Given the description of an element on the screen output the (x, y) to click on. 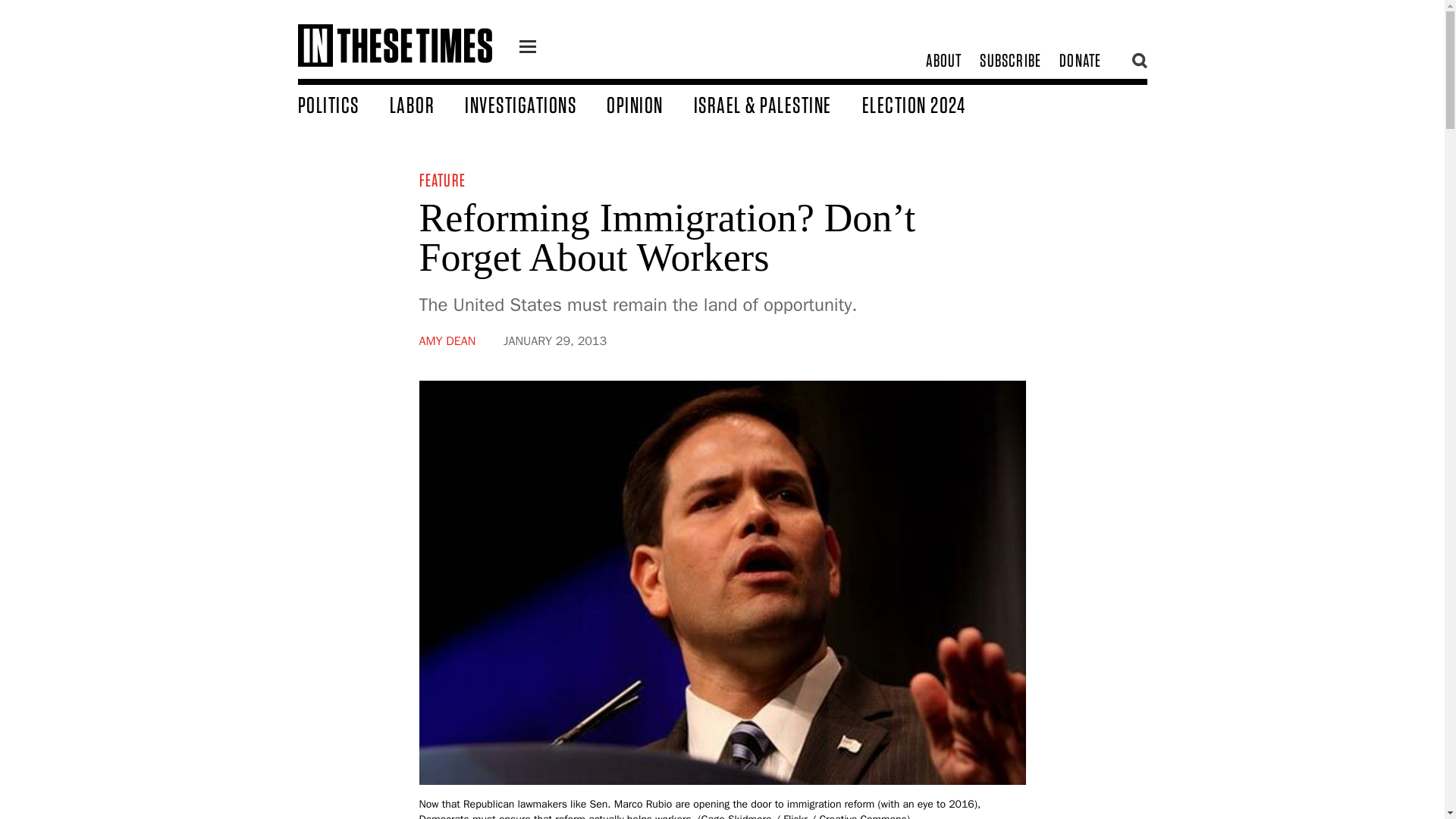
Flickr (795, 816)
ELECTION 2024 (928, 103)
DONATE (1079, 60)
ABOUT (944, 60)
LABOR (427, 103)
FEATURE (441, 179)
SUBSCRIBE (1010, 60)
POLITICS (342, 103)
AMY DEAN (447, 340)
OPINION (650, 103)
